Given the description of an element on the screen output the (x, y) to click on. 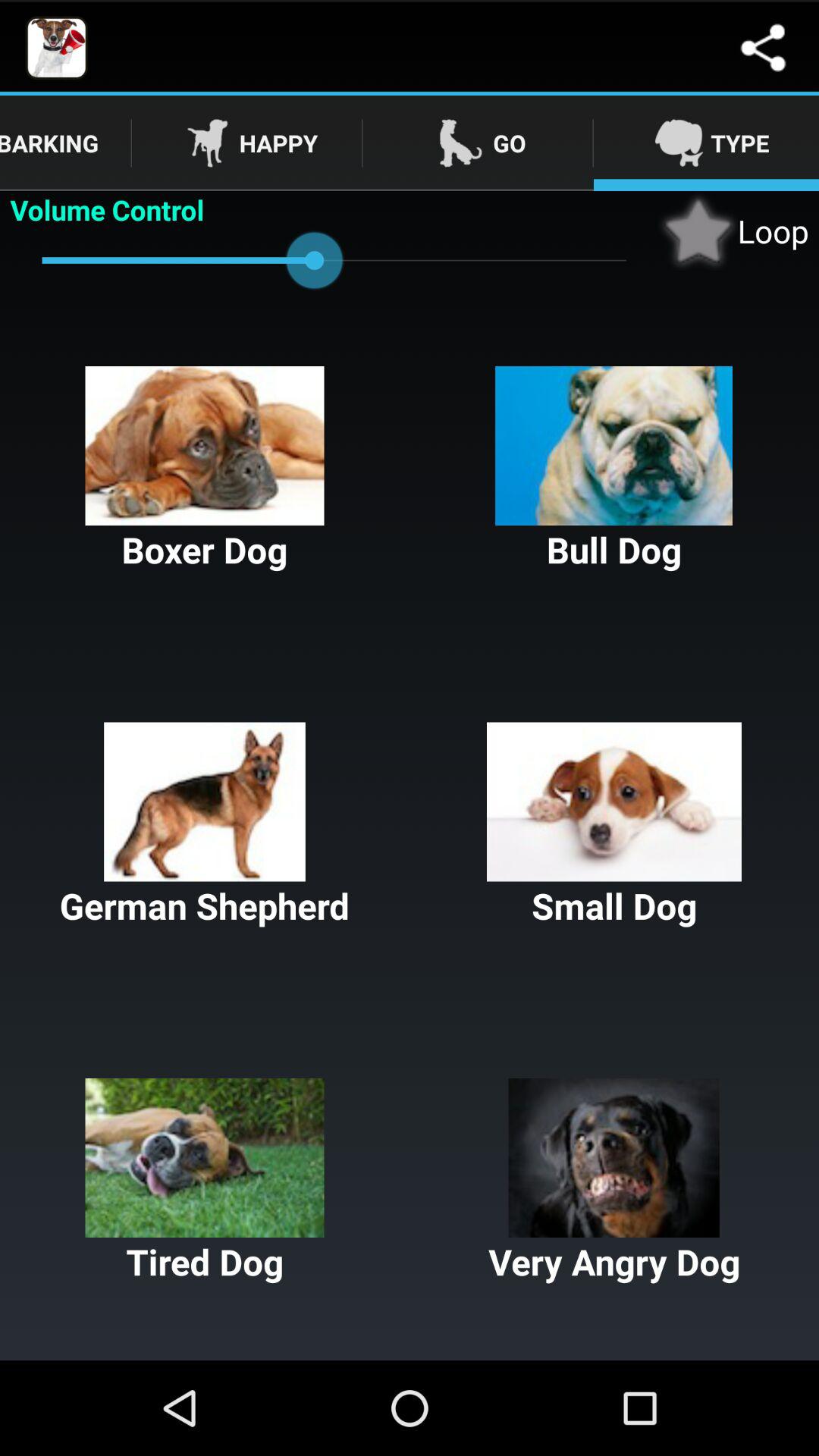
launch icon above german shepherd button (614, 469)
